Given the description of an element on the screen output the (x, y) to click on. 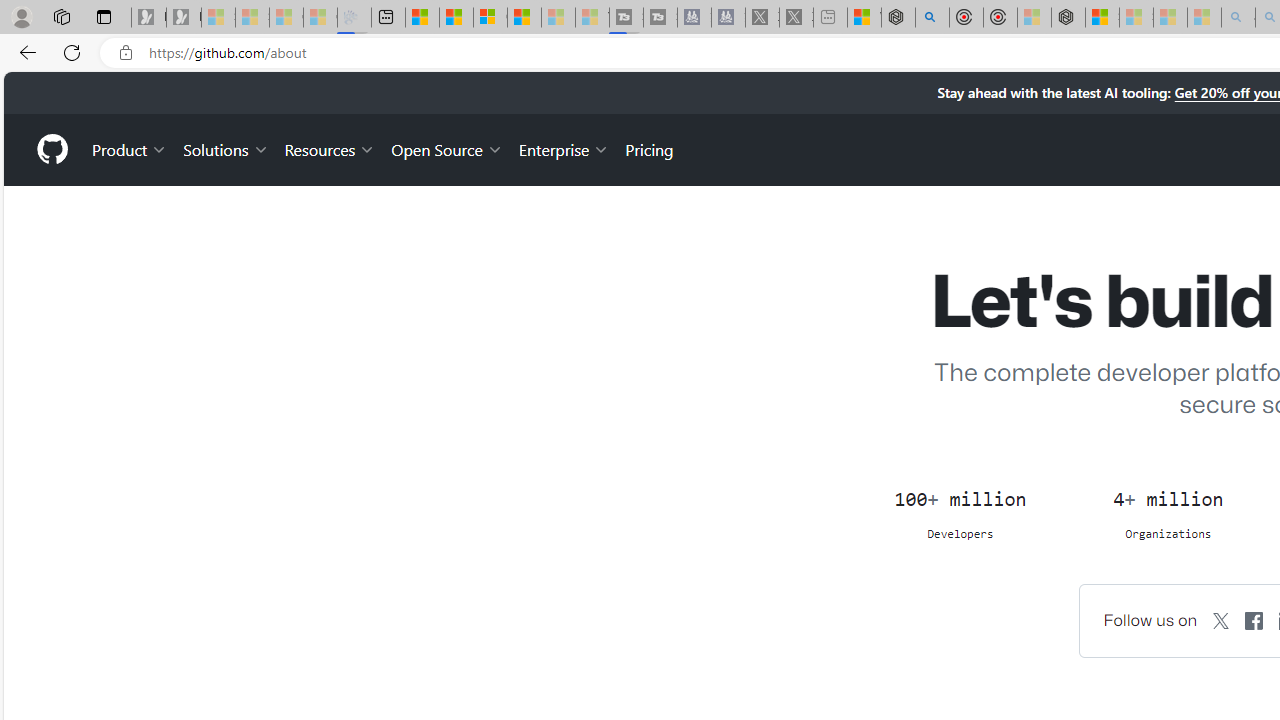
Product (130, 148)
